Given the description of an element on the screen output the (x, y) to click on. 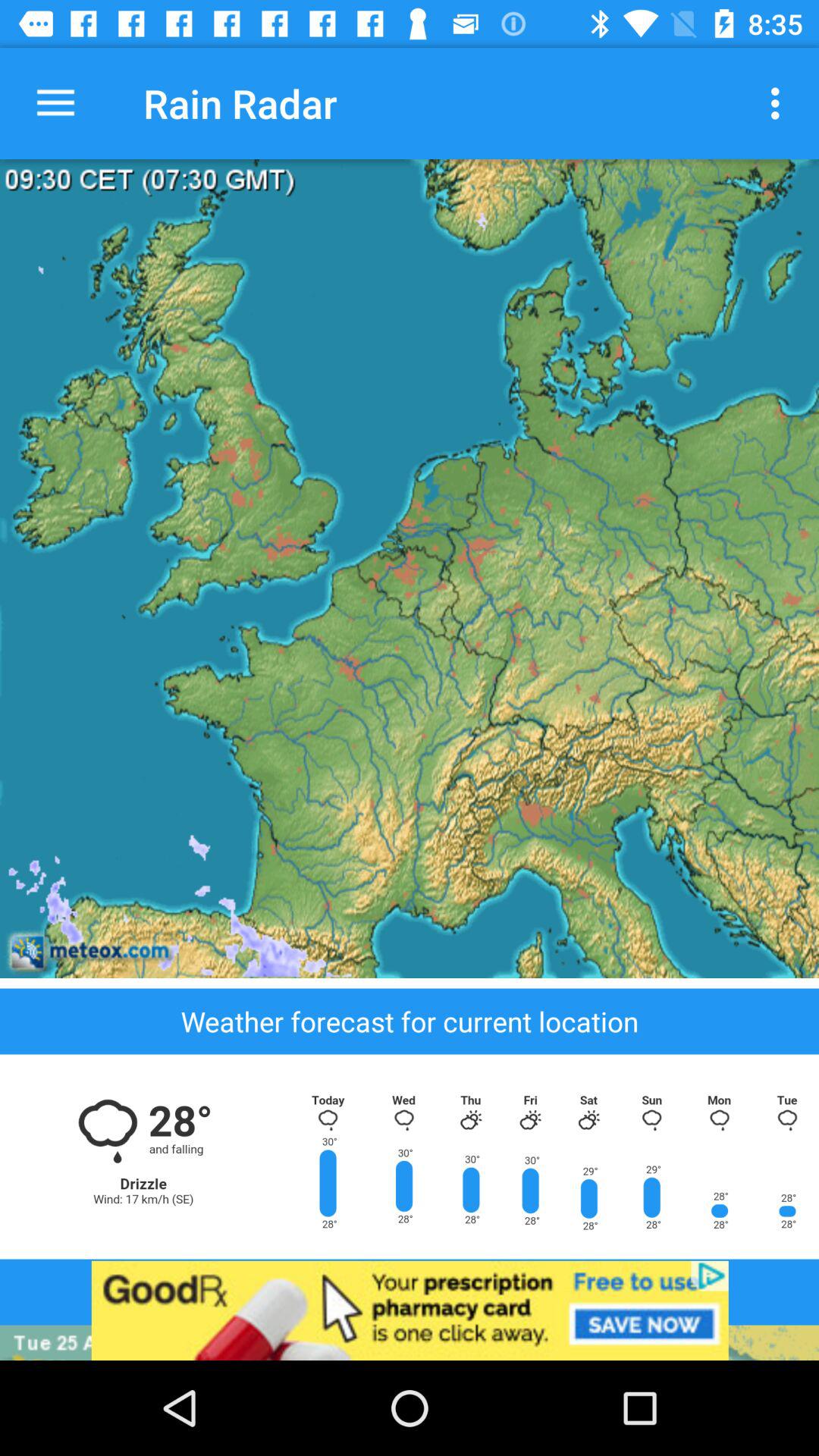
weather option (409, 1156)
